Given the description of an element on the screen output the (x, y) to click on. 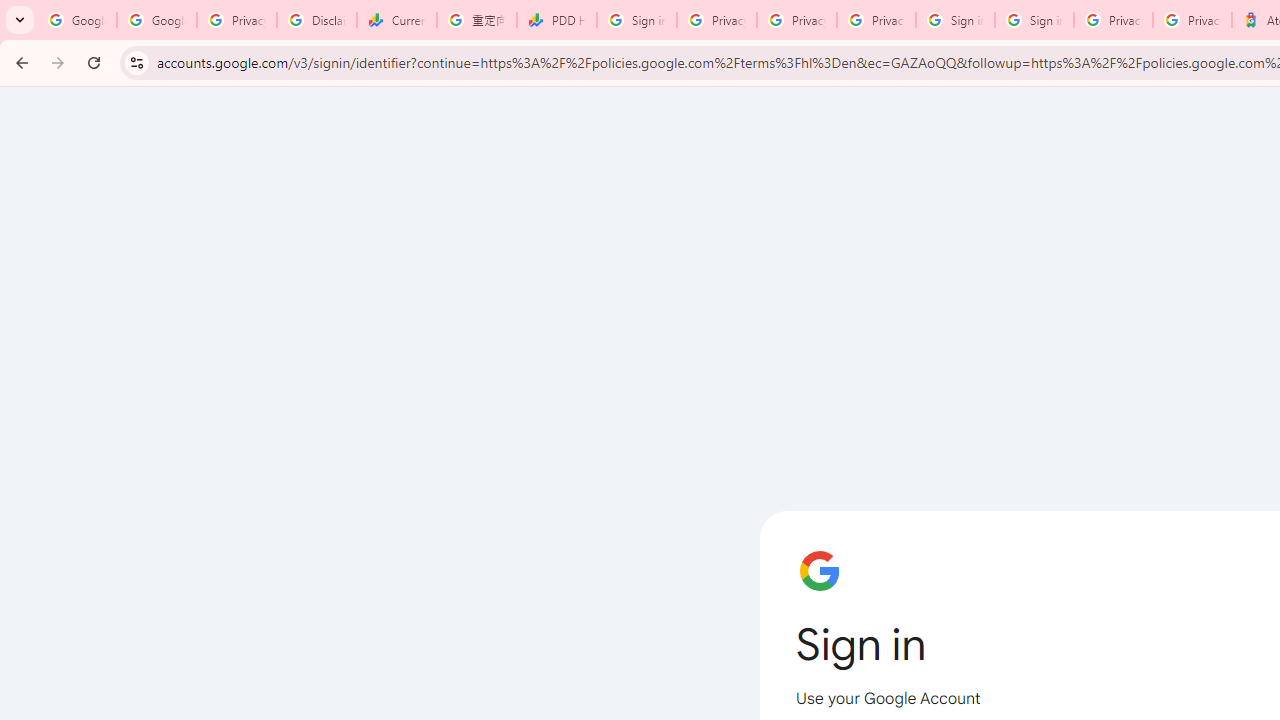
Privacy Checkup (876, 20)
Sign in - Google Accounts (955, 20)
Google Workspace Admin Community (76, 20)
Sign in - Google Accounts (636, 20)
